Given the description of an element on the screen output the (x, y) to click on. 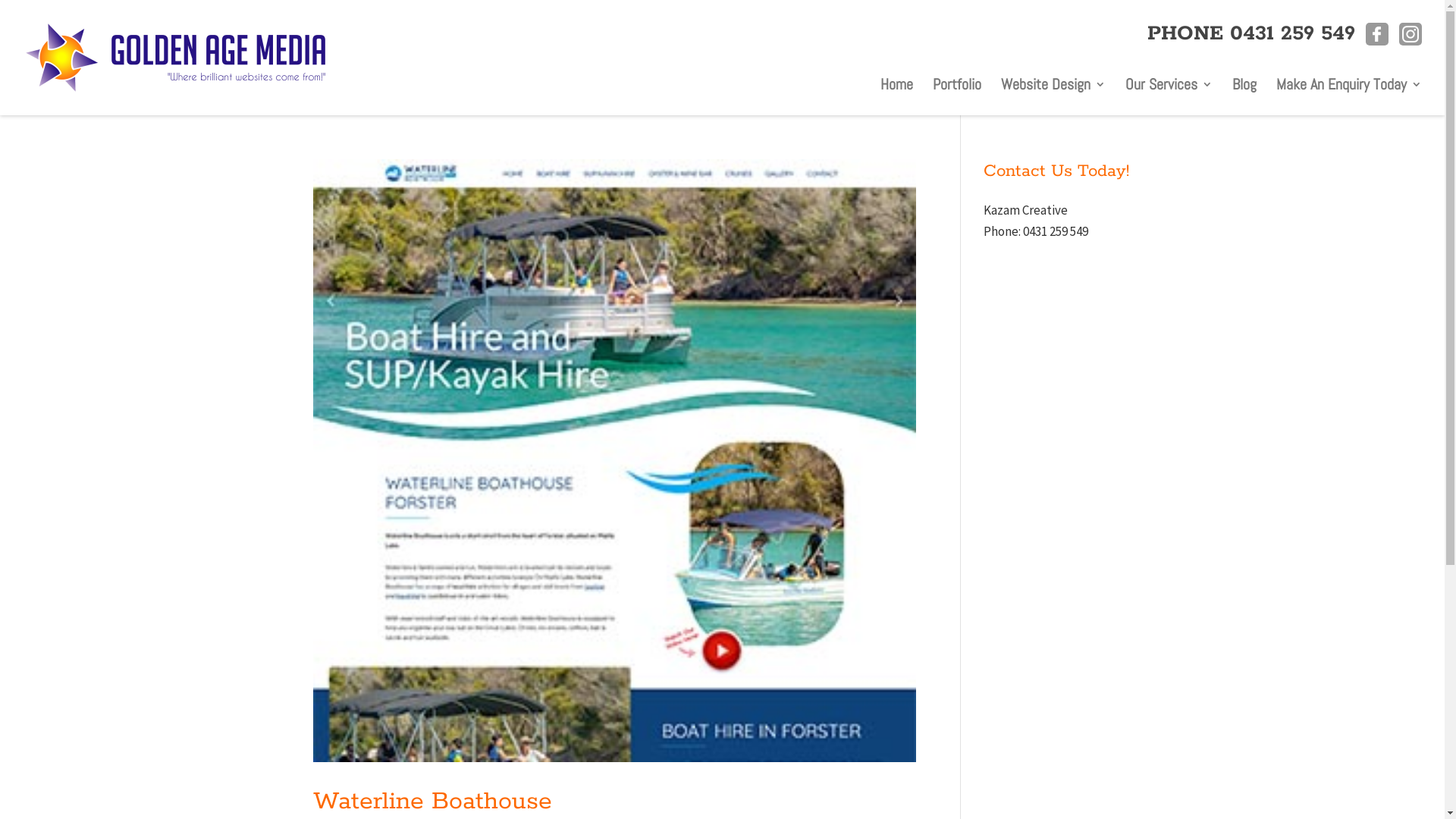
PHONE 0431 259 549 Element type: text (1251, 33)
Waterline Boathouse Element type: text (431, 801)
Portfolio Element type: text (956, 87)
Make An Enquiry Today Element type: text (1348, 87)
Website Design Element type: text (1053, 87)
Instagram Element type: text (1410, 33)
Home Element type: text (896, 87)
Blog Element type: text (1244, 87)
Facebook Element type: text (1376, 33)
Our Services Element type: text (1168, 87)
